Given the description of an element on the screen output the (x, y) to click on. 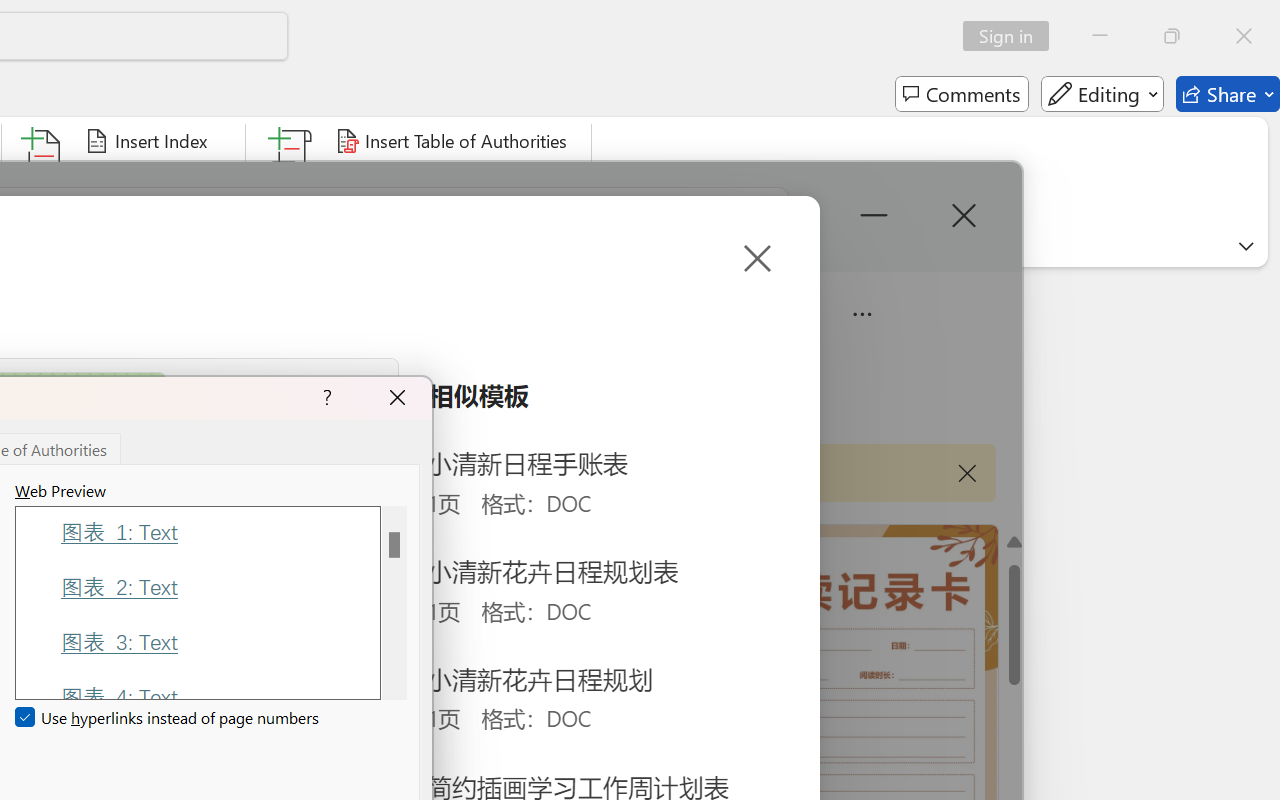
Insert Table of Authorities... (453, 141)
Mark Citation... (292, 179)
Sign in (1012, 35)
AutomationID: 66 (394, 602)
Web Preview (394, 602)
Update Table (404, 179)
Editing (1101, 94)
Update Index (156, 179)
